Given the description of an element on the screen output the (x, y) to click on. 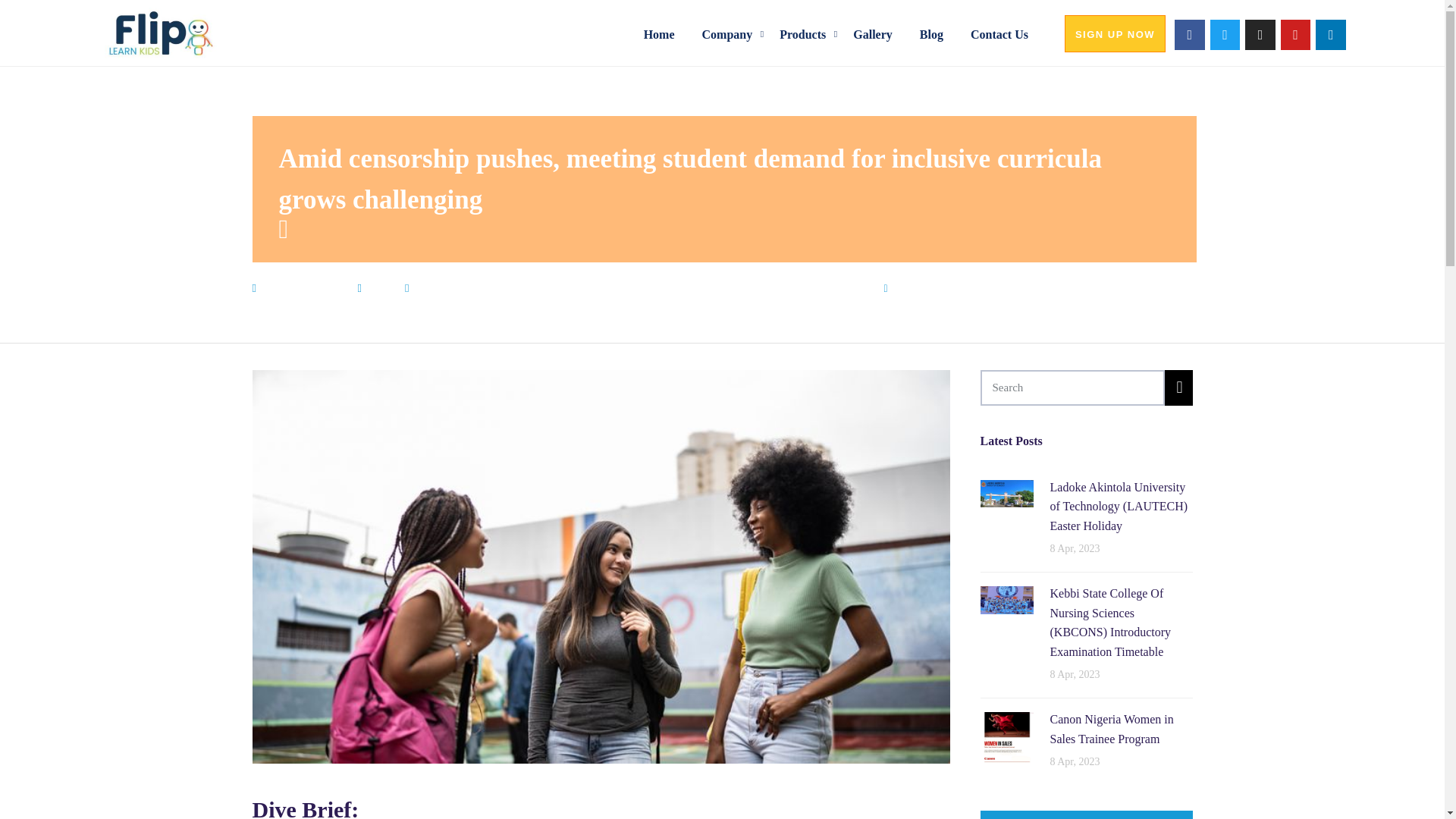
View all posts by Flip Learn Kids (940, 287)
Censorship (439, 287)
Canon Nigeria Women in Sales Trainee Program (1005, 737)
February 16, 2023 (303, 287)
Company (730, 33)
News (379, 287)
Contact Us (1003, 33)
SIGN UP NOW (1115, 33)
